Given the description of an element on the screen output the (x, y) to click on. 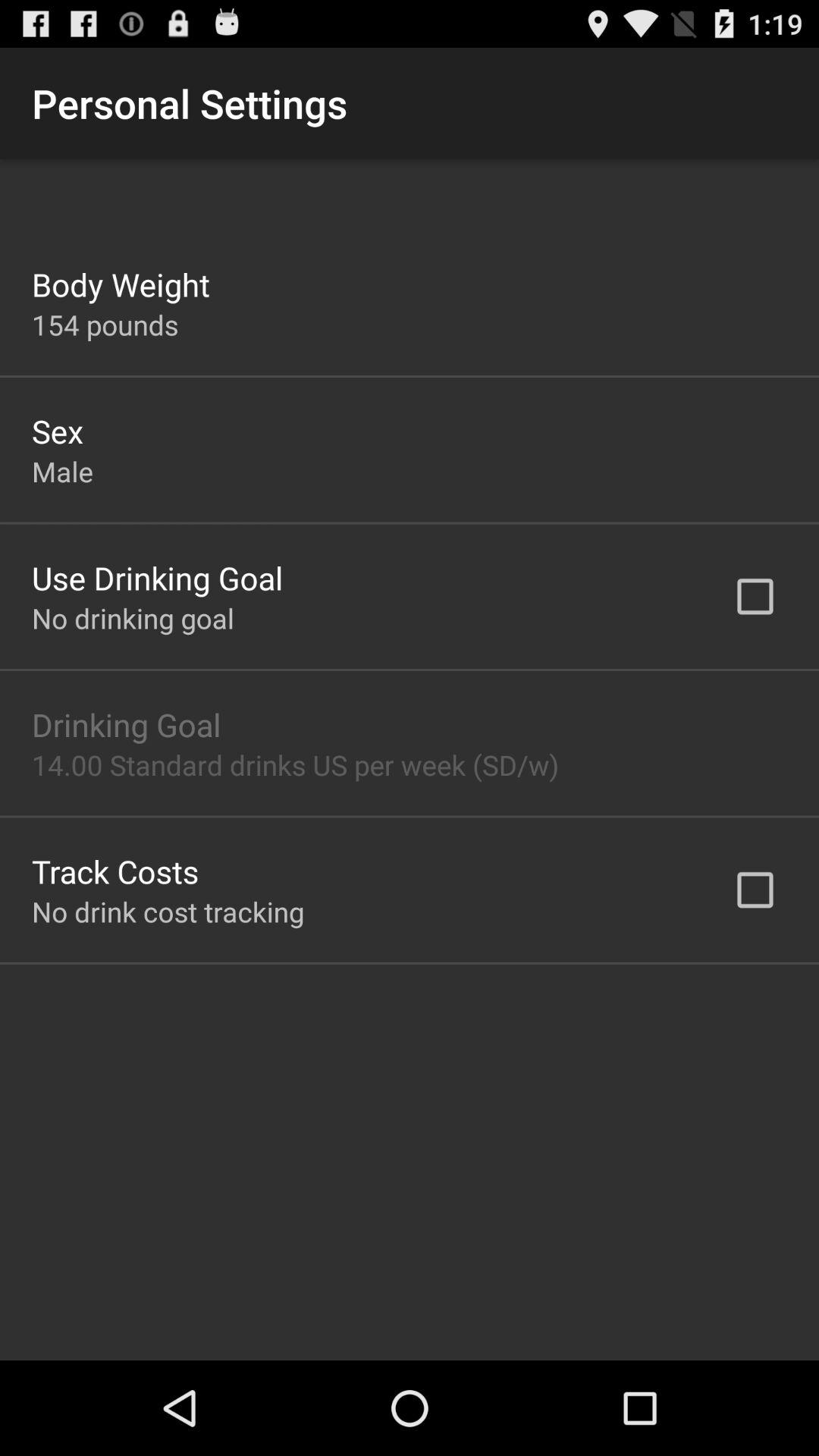
turn on app above no drink cost app (115, 870)
